Given the description of an element on the screen output the (x, y) to click on. 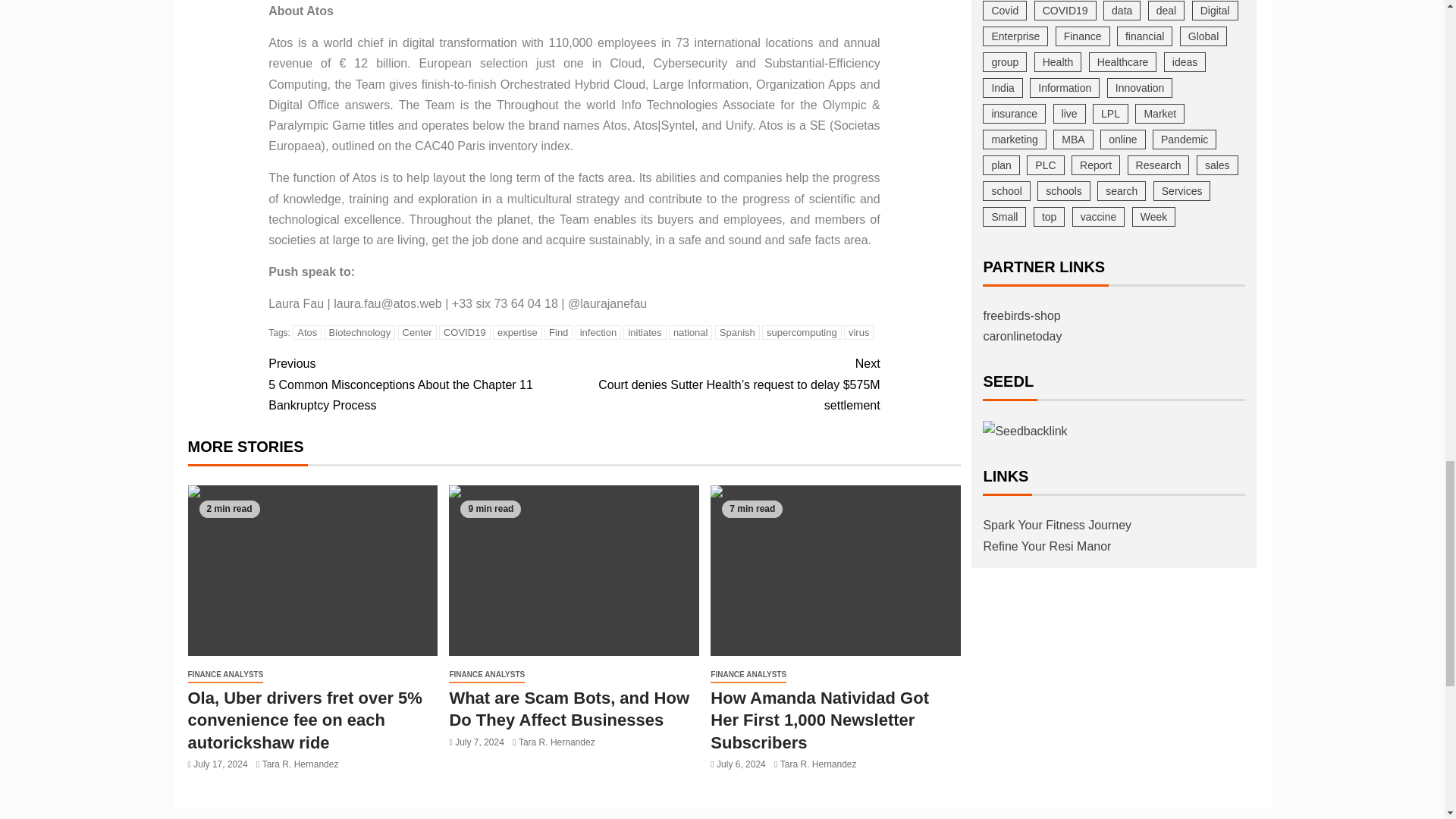
virus (858, 332)
supercomputing (801, 332)
Seedbacklink (1024, 430)
Spanish (737, 332)
Center (416, 332)
national (690, 332)
initiates (644, 332)
COVID19 (464, 332)
Atos (306, 332)
infection (598, 332)
Find (558, 332)
expertise (517, 332)
What are Scam Bots, and How Do They Affect Businesses (573, 570)
Biotechnology (360, 332)
